Given the description of an element on the screen output the (x, y) to click on. 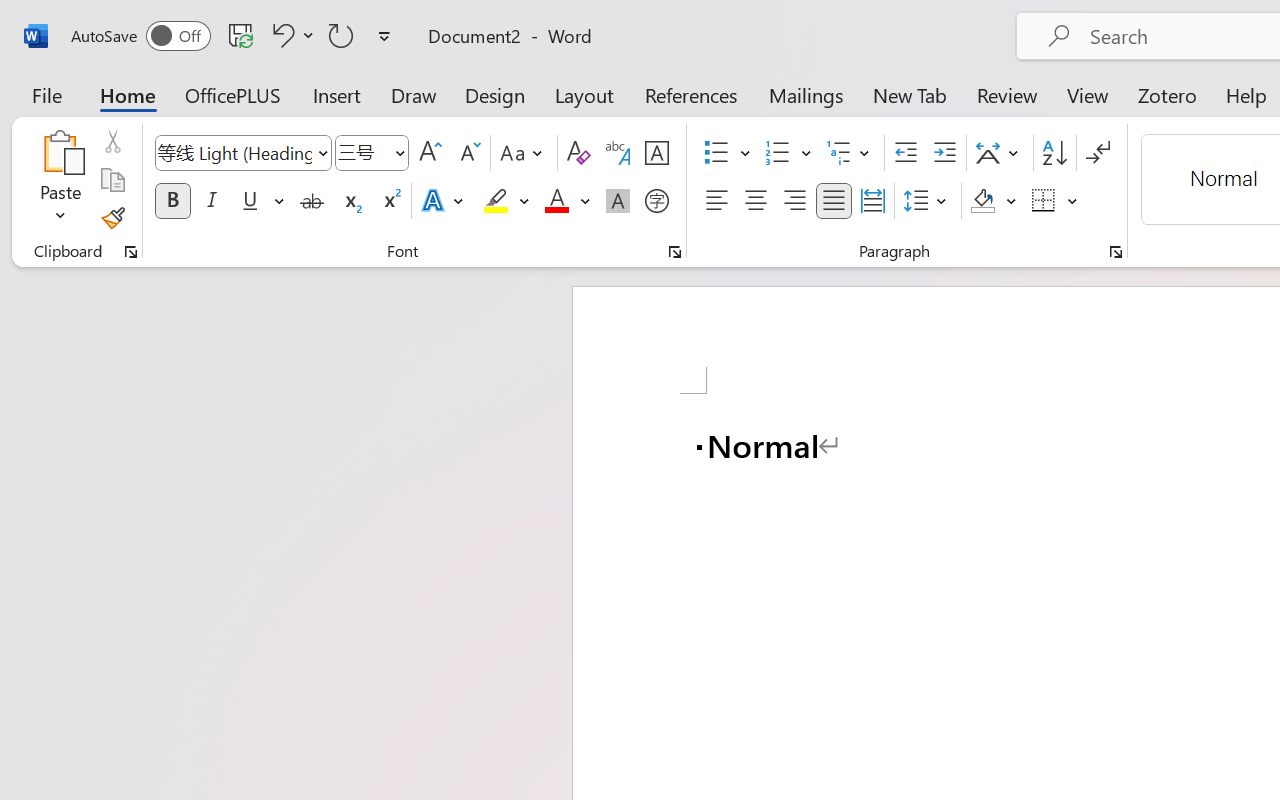
Mailings (806, 94)
Home (127, 94)
Superscript (390, 201)
Font Color Red (556, 201)
Asian Layout (1000, 153)
Decrease Indent (906, 153)
Justify (834, 201)
Grow Font (430, 153)
Borders (1055, 201)
Insert (337, 94)
Font... (675, 252)
Show/Hide Editing Marks (1098, 153)
More Options (1073, 201)
Font (234, 152)
